Given the description of an element on the screen output the (x, y) to click on. 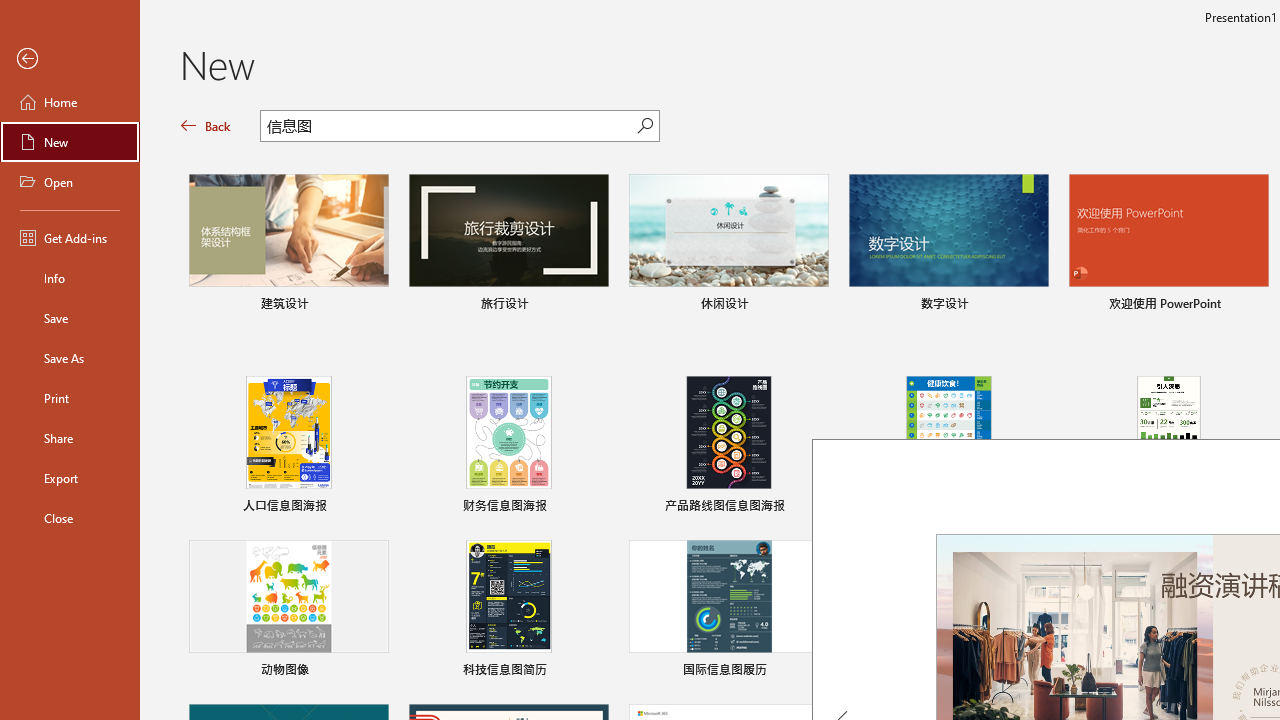
Print (69, 398)
Get Add-ins (69, 237)
Pin to list (1255, 671)
New (69, 141)
Export (69, 477)
Search for online templates and themes (449, 128)
Back (69, 59)
